Given the description of an element on the screen output the (x, y) to click on. 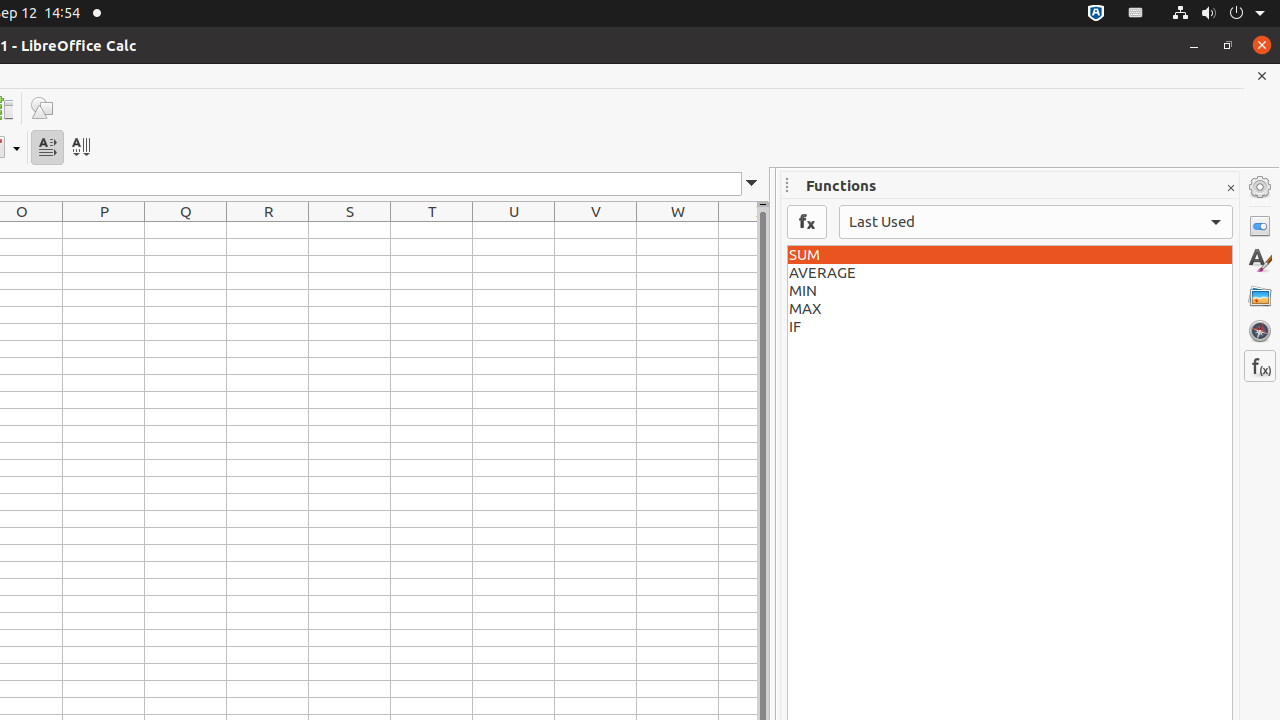
P1 Element type: table-cell (104, 230)
Expand Formula Bar Element type: push-button (752, 183)
Text direction from top to bottom Element type: toggle-button (80, 147)
V1 Element type: table-cell (596, 230)
Draw Functions Element type: toggle-button (41, 108)
